Given the description of an element on the screen output the (x, y) to click on. 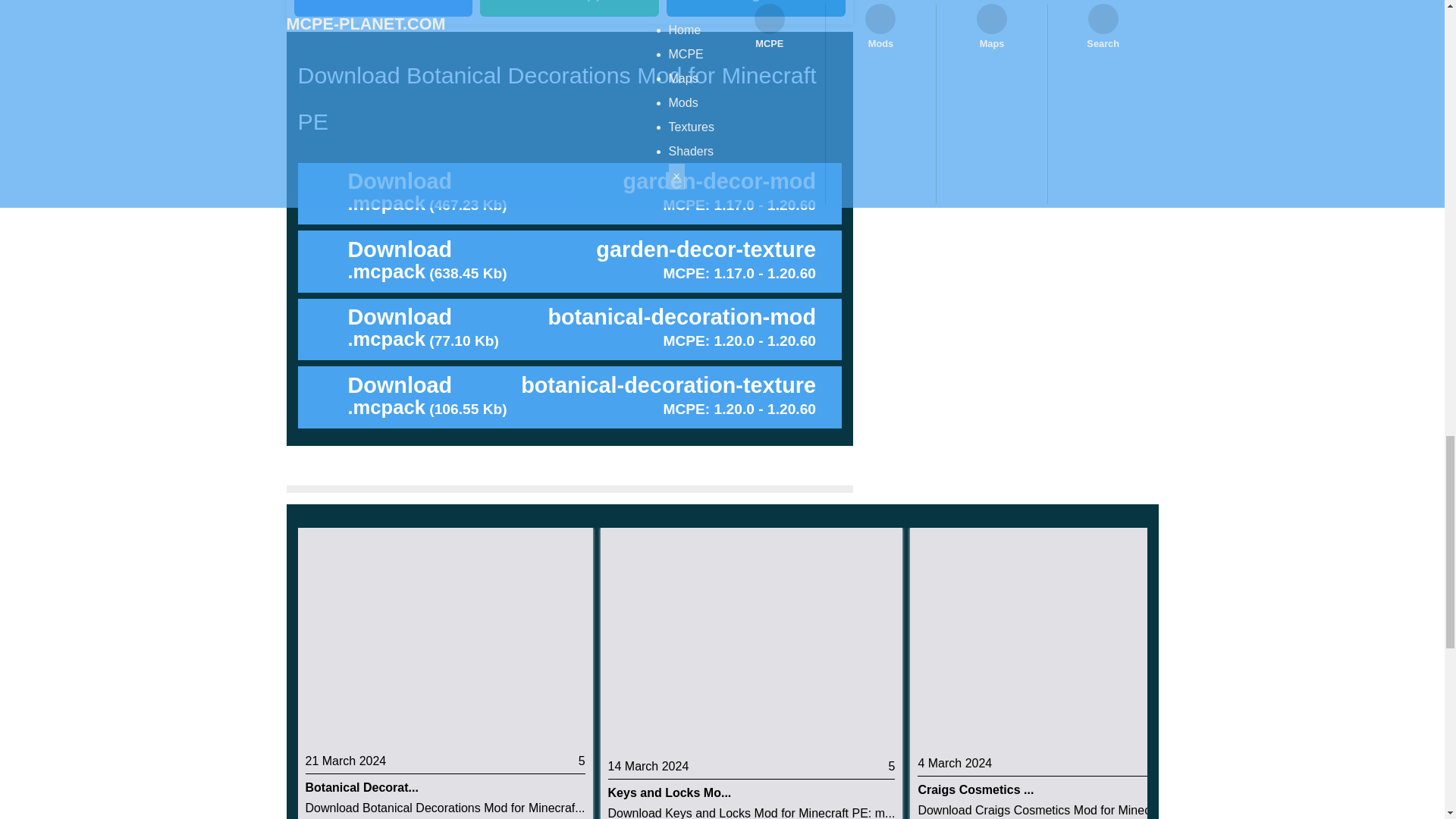
Keys and Locks Mo... (751, 793)
WhatsApp (569, 8)
Craigs Cosmetics Mod for Minecraft PE (1059, 638)
Botanical Decorat... (444, 787)
Botanical Decorations Mod for Minecraft PE (444, 636)
Keys and Locks Mod for Minecraft PE (750, 640)
VKontakte (383, 8)
Telegram (755, 8)
